Given the description of an element on the screen output the (x, y) to click on. 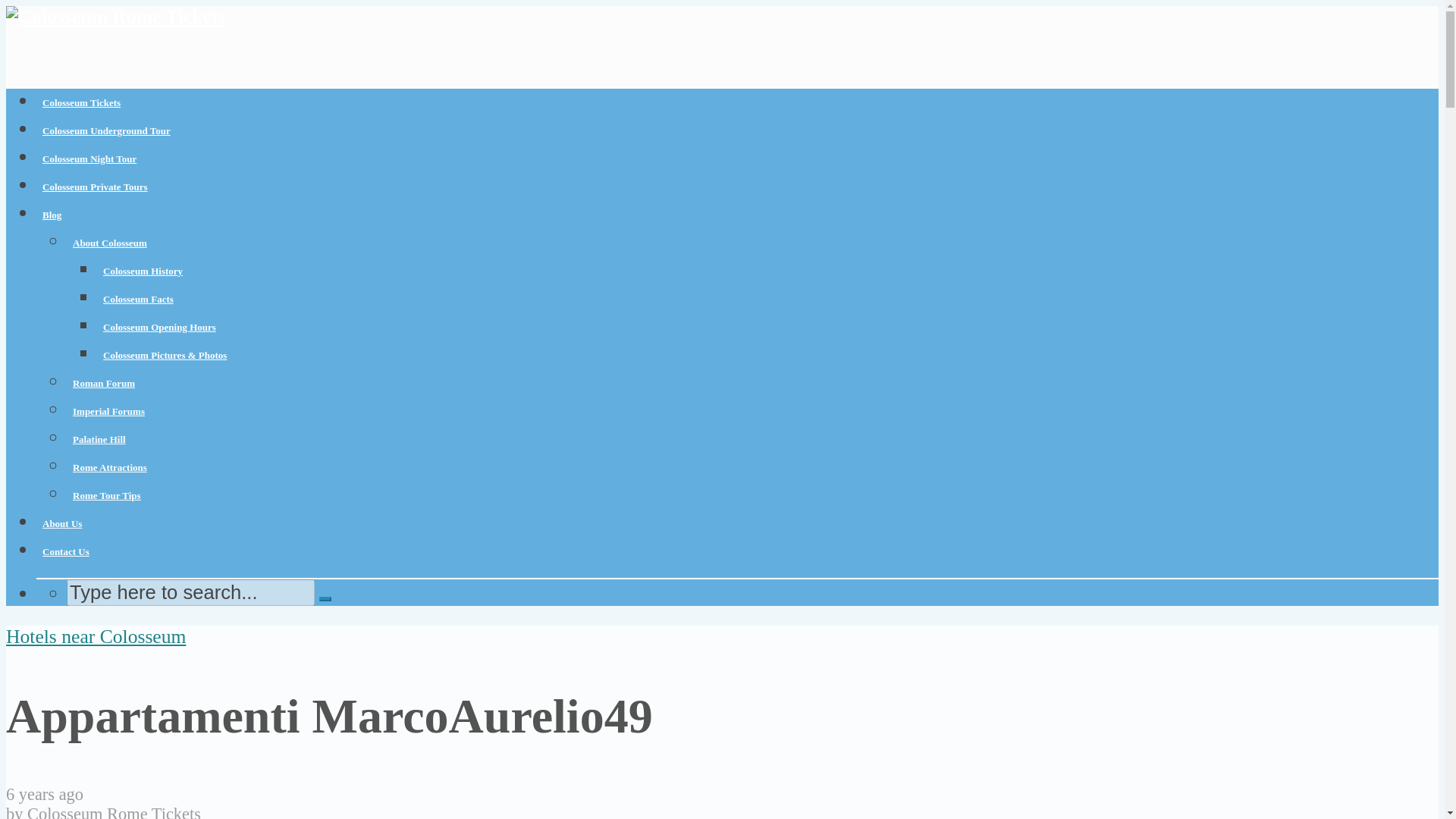
Type here to search... (190, 592)
Colosseum Rome Tickets (113, 811)
Type here to search... (190, 592)
Hotels near Colosseum (95, 636)
